Given the description of an element on the screen output the (x, y) to click on. 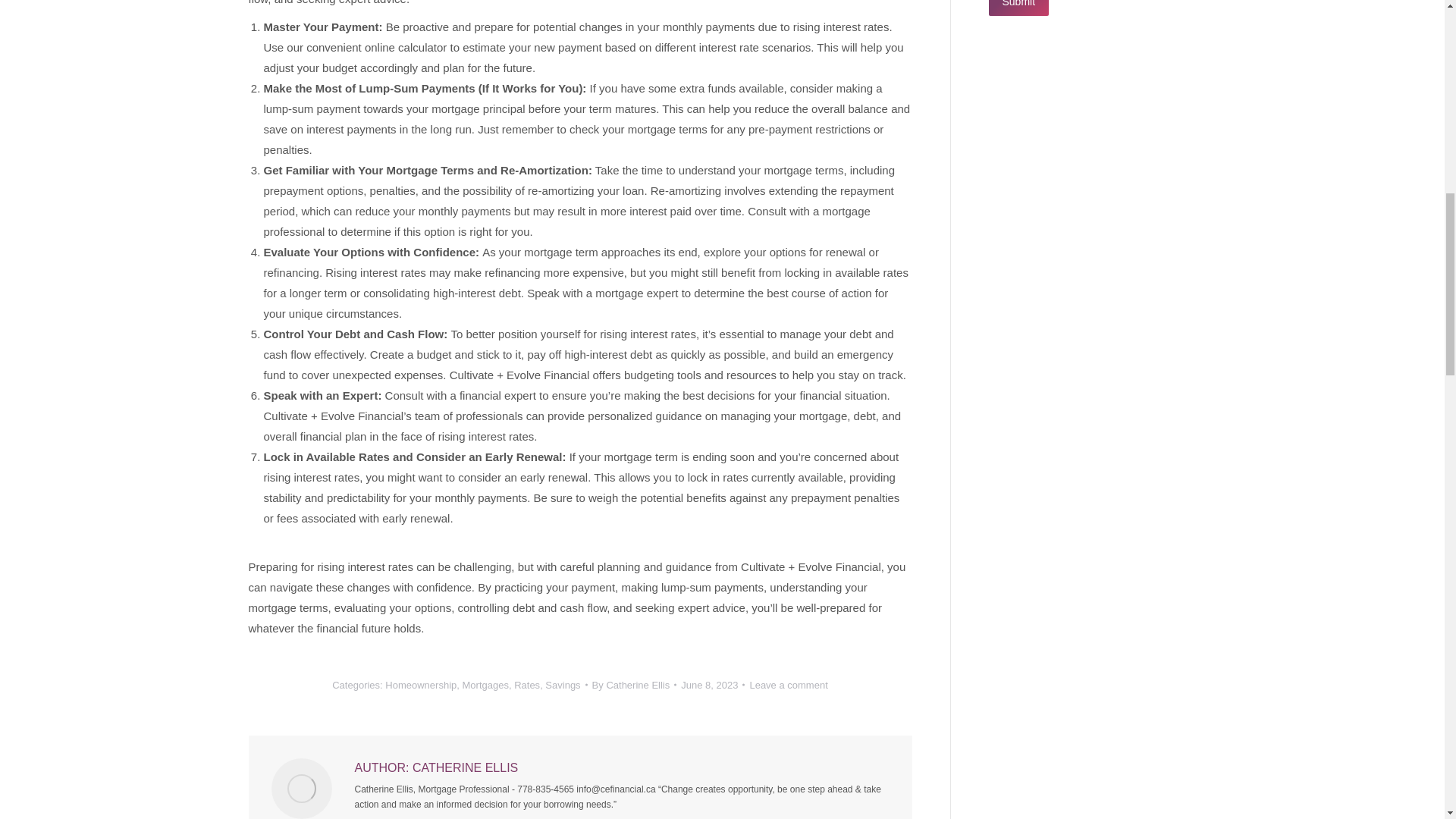
7:16 am (712, 684)
Submit (1018, 7)
View all posts by Catherine Ellis (634, 684)
